Given the description of an element on the screen output the (x, y) to click on. 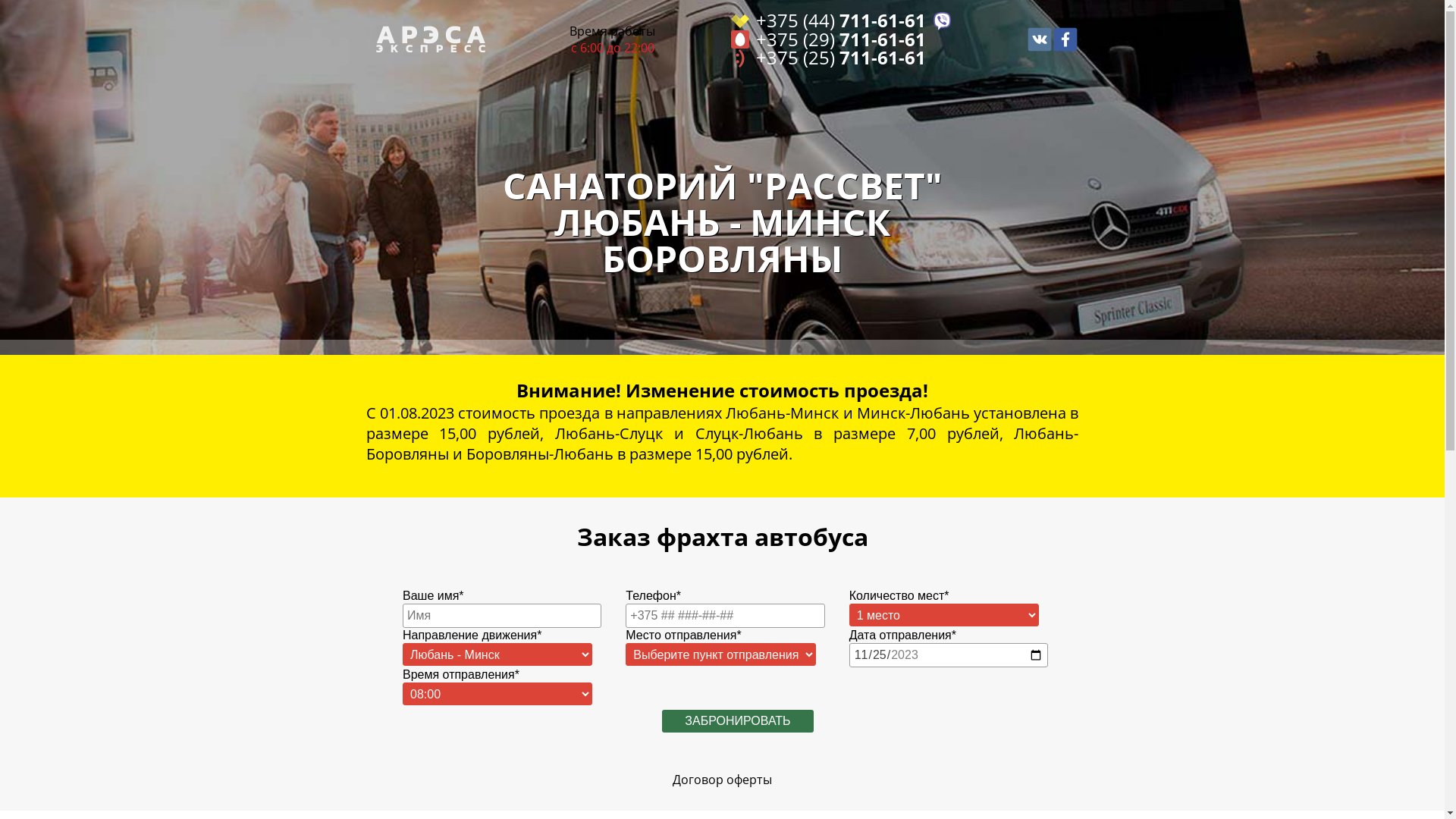
+375 (29) 711-61-61 Element type: text (841, 39)
+375 (44) 711-61-61 Element type: text (841, 20)
+375 (25) 711-61-61 Element type: text (841, 57)
